Given the description of an element on the screen output the (x, y) to click on. 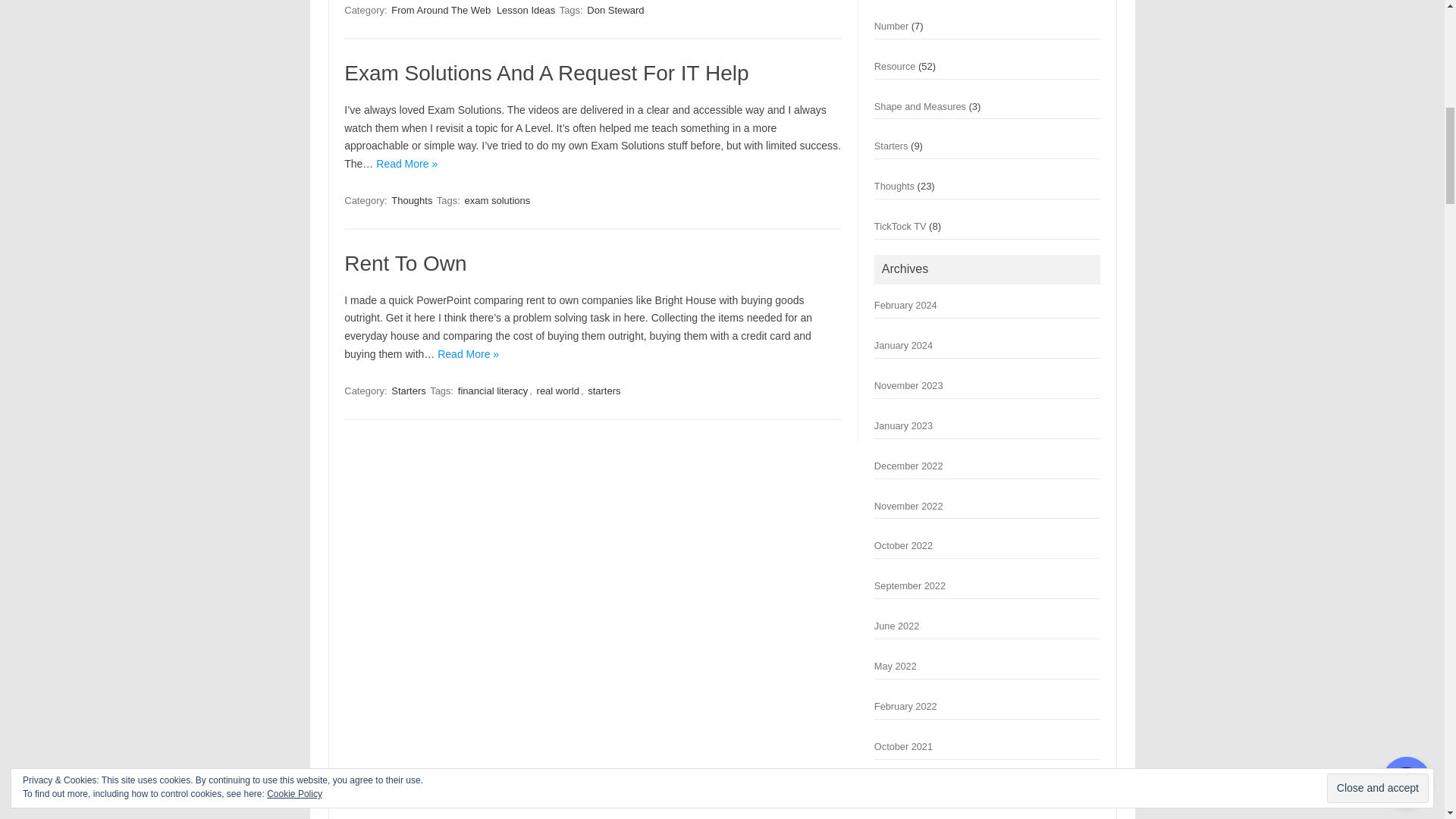
Permalink to Exam Solutions And A Request For IT Help (545, 73)
Permalink to Rent To Own (404, 263)
